Given the description of an element on the screen output the (x, y) to click on. 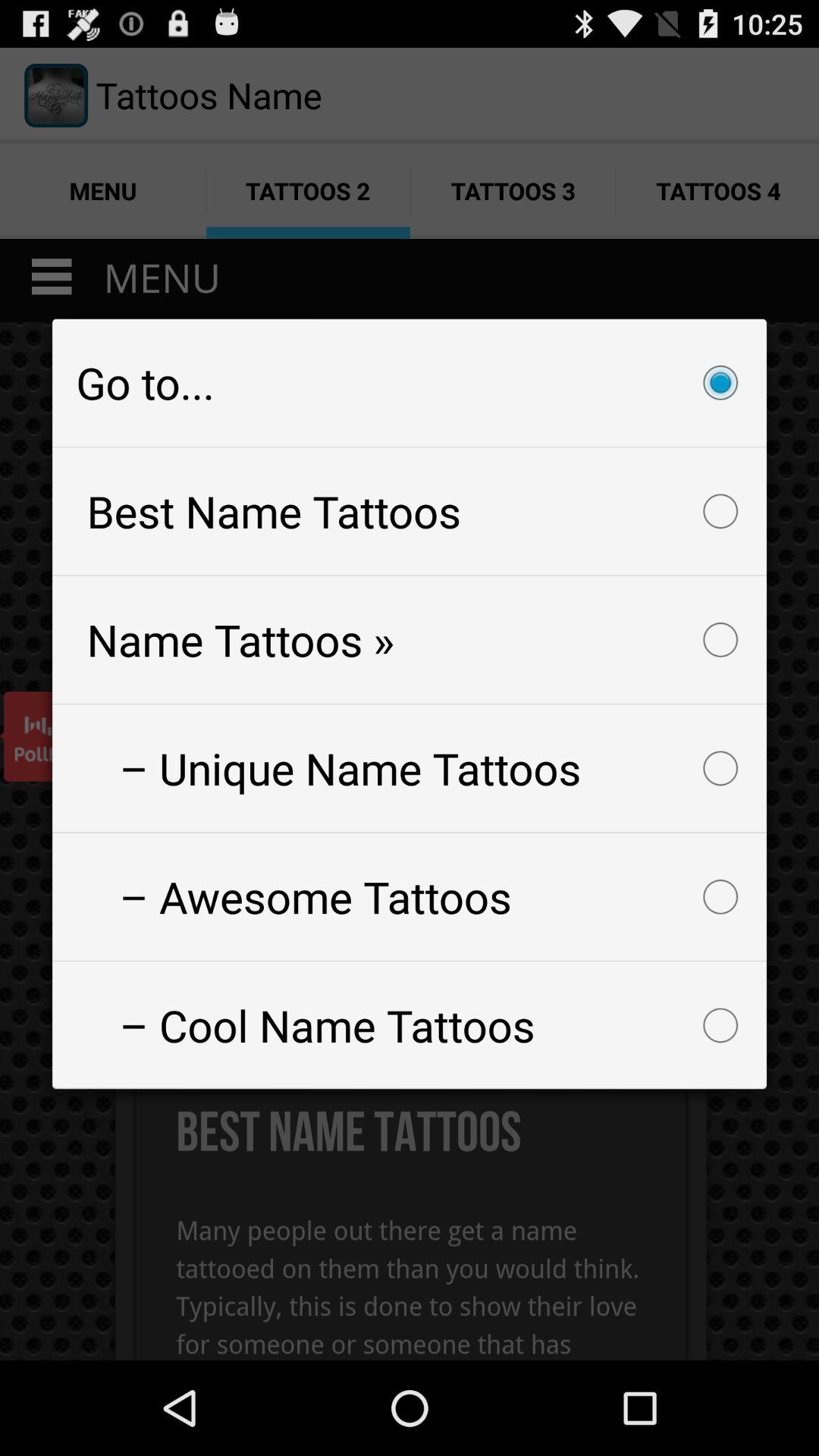
open item at the top (409, 382)
